Given the description of an element on the screen output the (x, y) to click on. 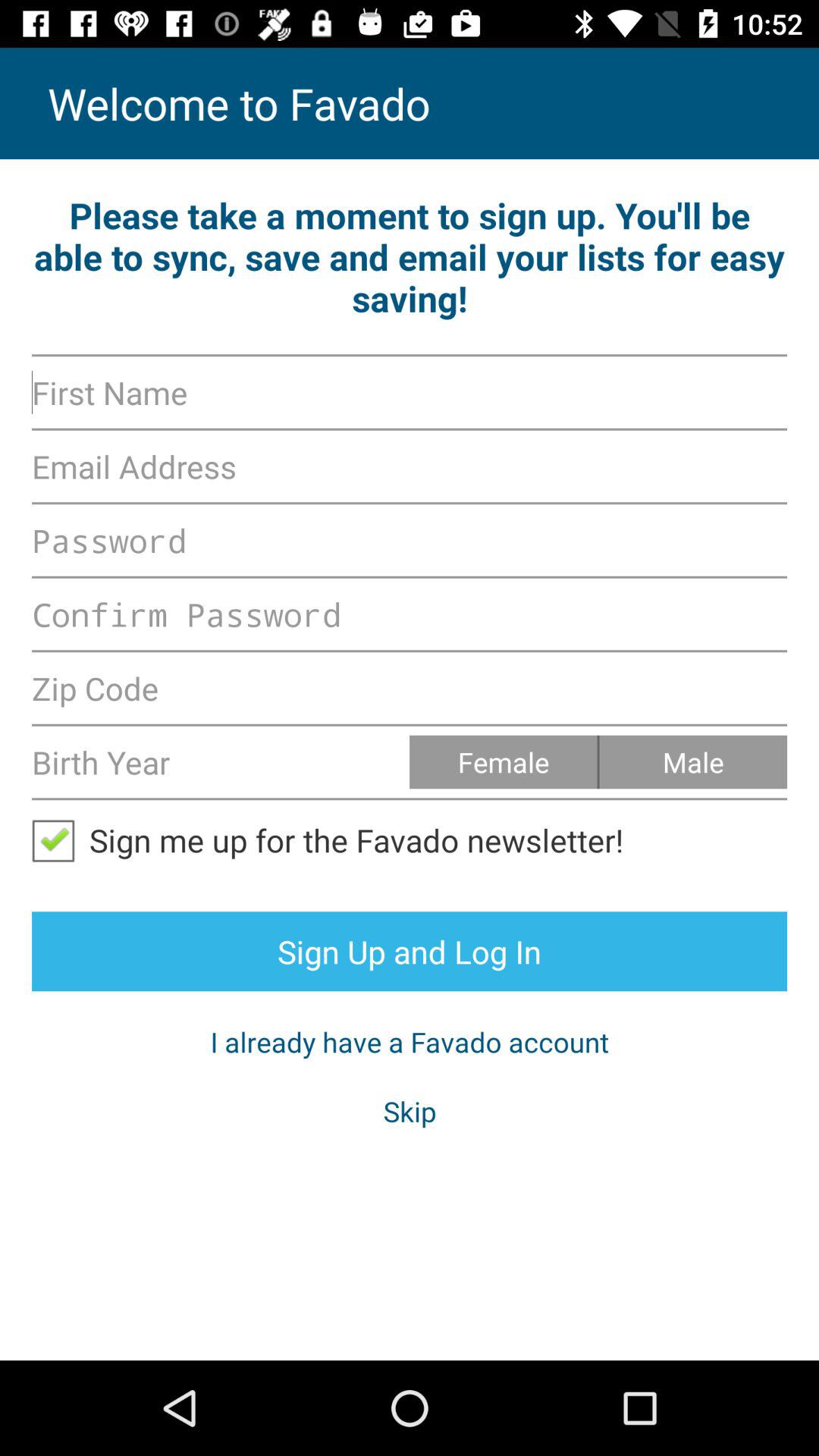
zip code adding option (409, 688)
